Given the description of an element on the screen output the (x, y) to click on. 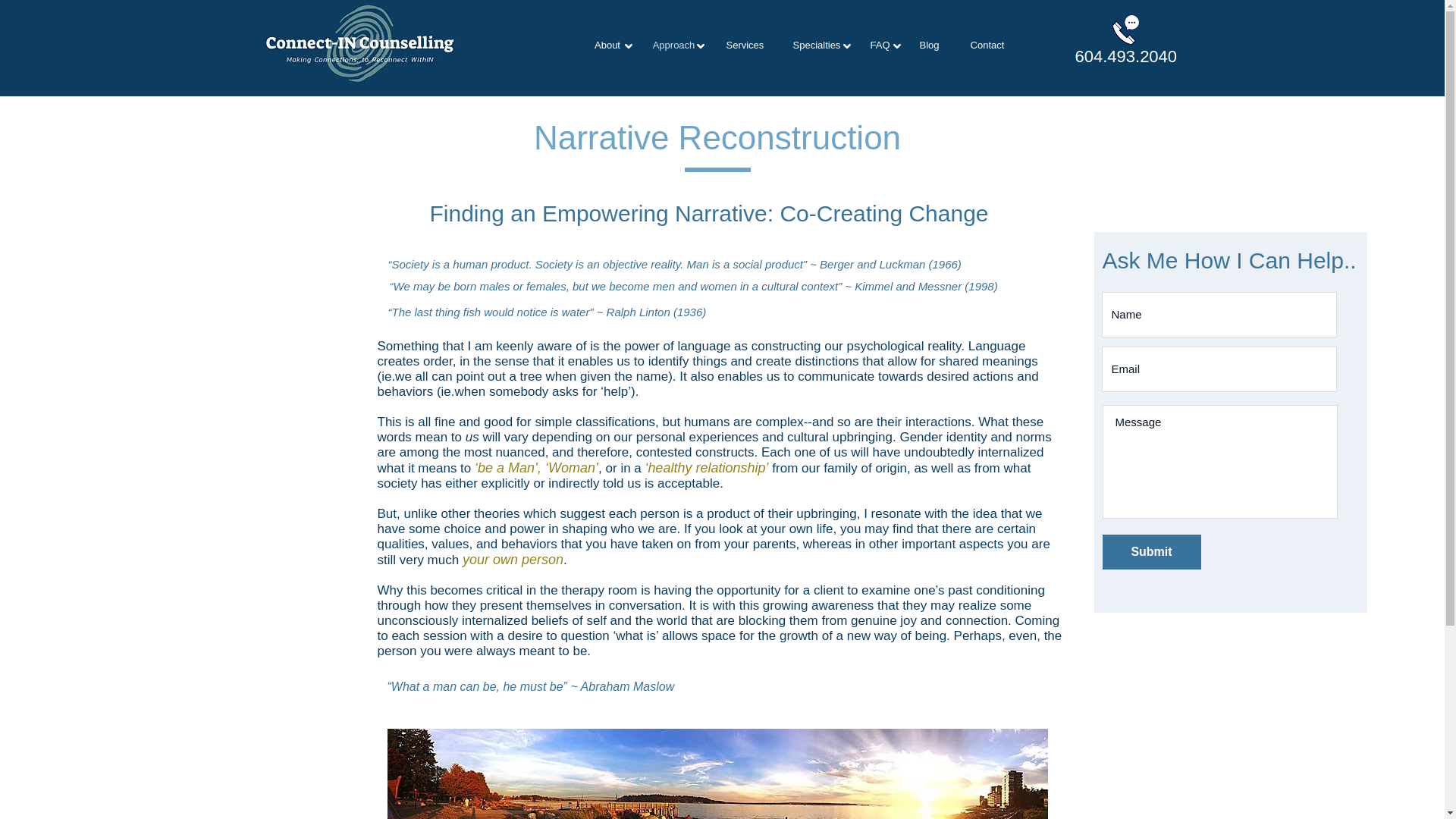
FAQ (880, 45)
Approach (674, 45)
Blog (928, 45)
Contact (986, 45)
Submit (1151, 551)
About (607, 45)
Specialties (816, 45)
Services (744, 45)
